Given the description of an element on the screen output the (x, y) to click on. 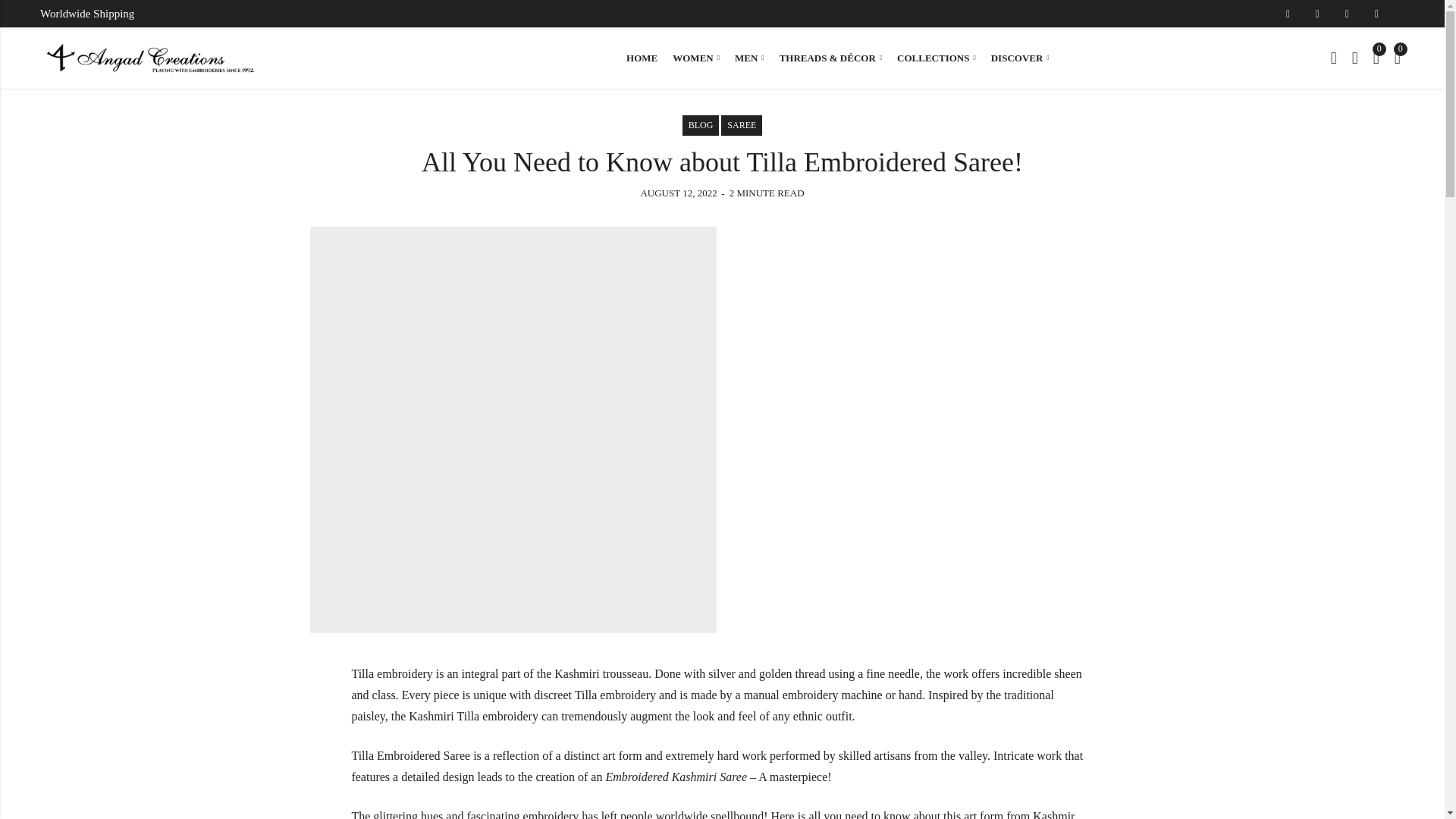
MEN (748, 58)
HOME (641, 58)
WOMEN (695, 58)
